Given the description of an element on the screen output the (x, y) to click on. 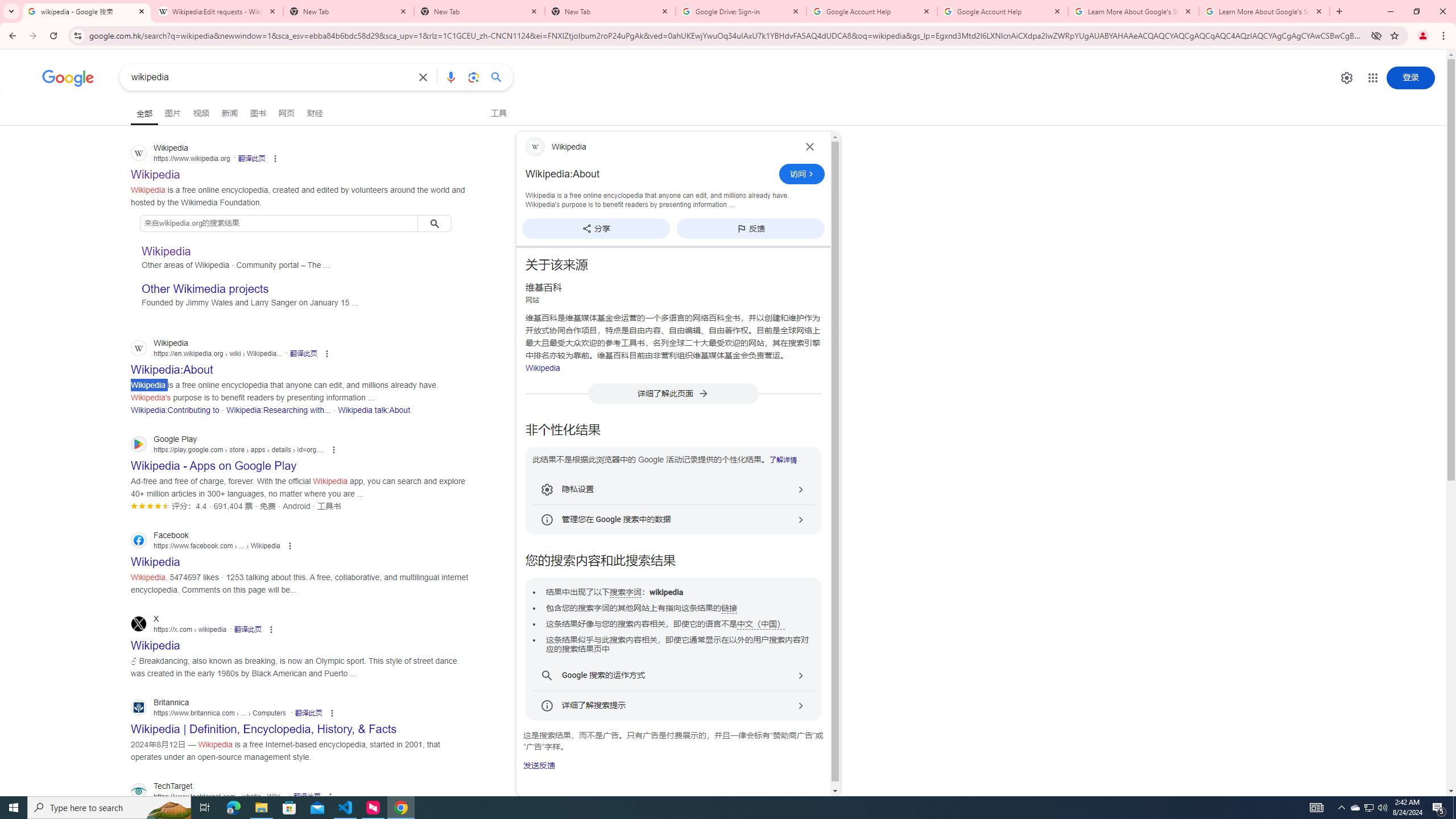
Wikipedia:Researching with... (277, 410)
Wikipedia talk:About (373, 410)
Wikipedia:Contributing to (175, 410)
 Wikipedia Wikipedia https://www.wikipedia.org (155, 171)
